Given the description of an element on the screen output the (x, y) to click on. 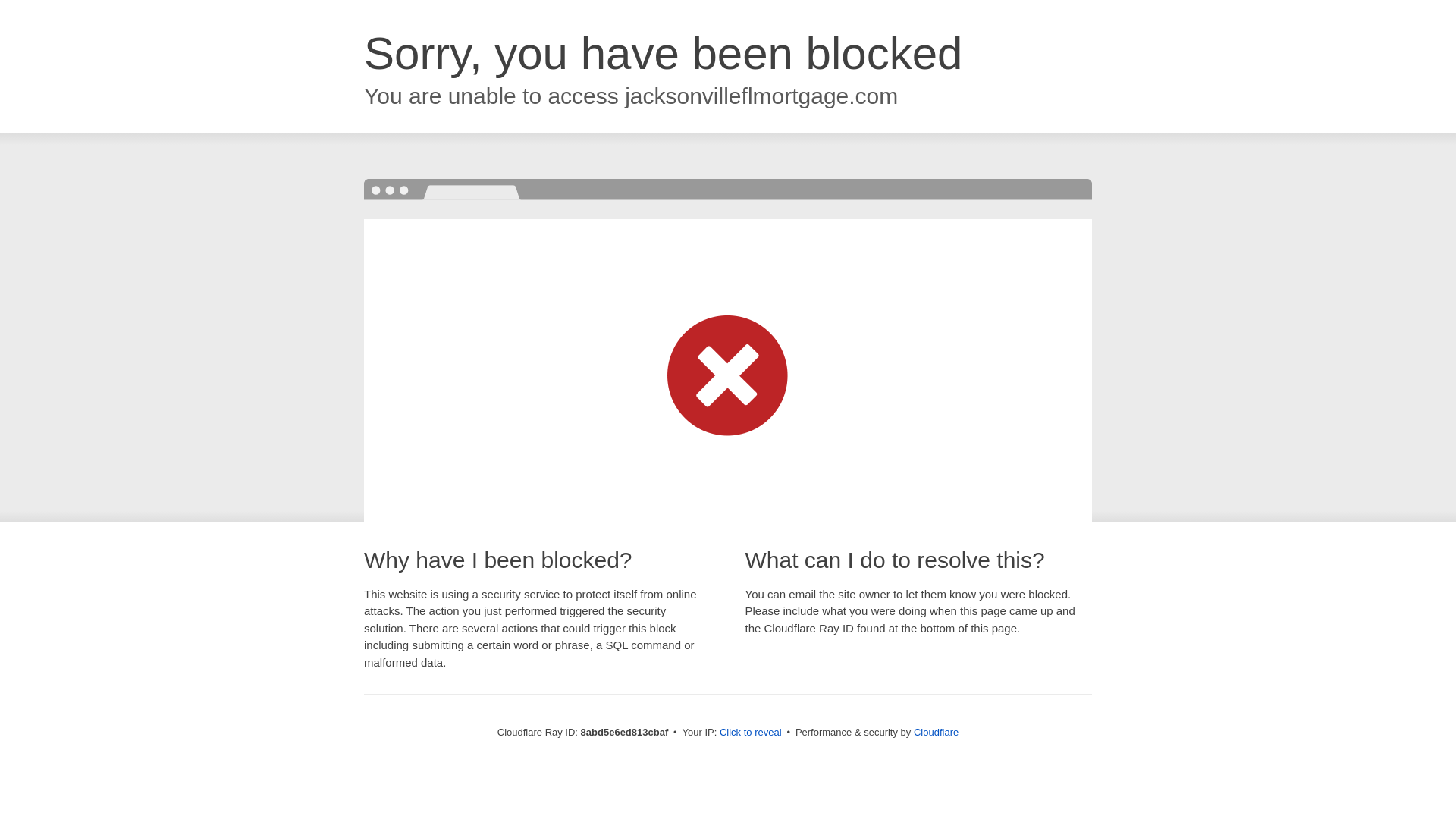
Click to reveal (750, 732)
Cloudflare (936, 731)
